Given the description of an element on the screen output the (x, y) to click on. 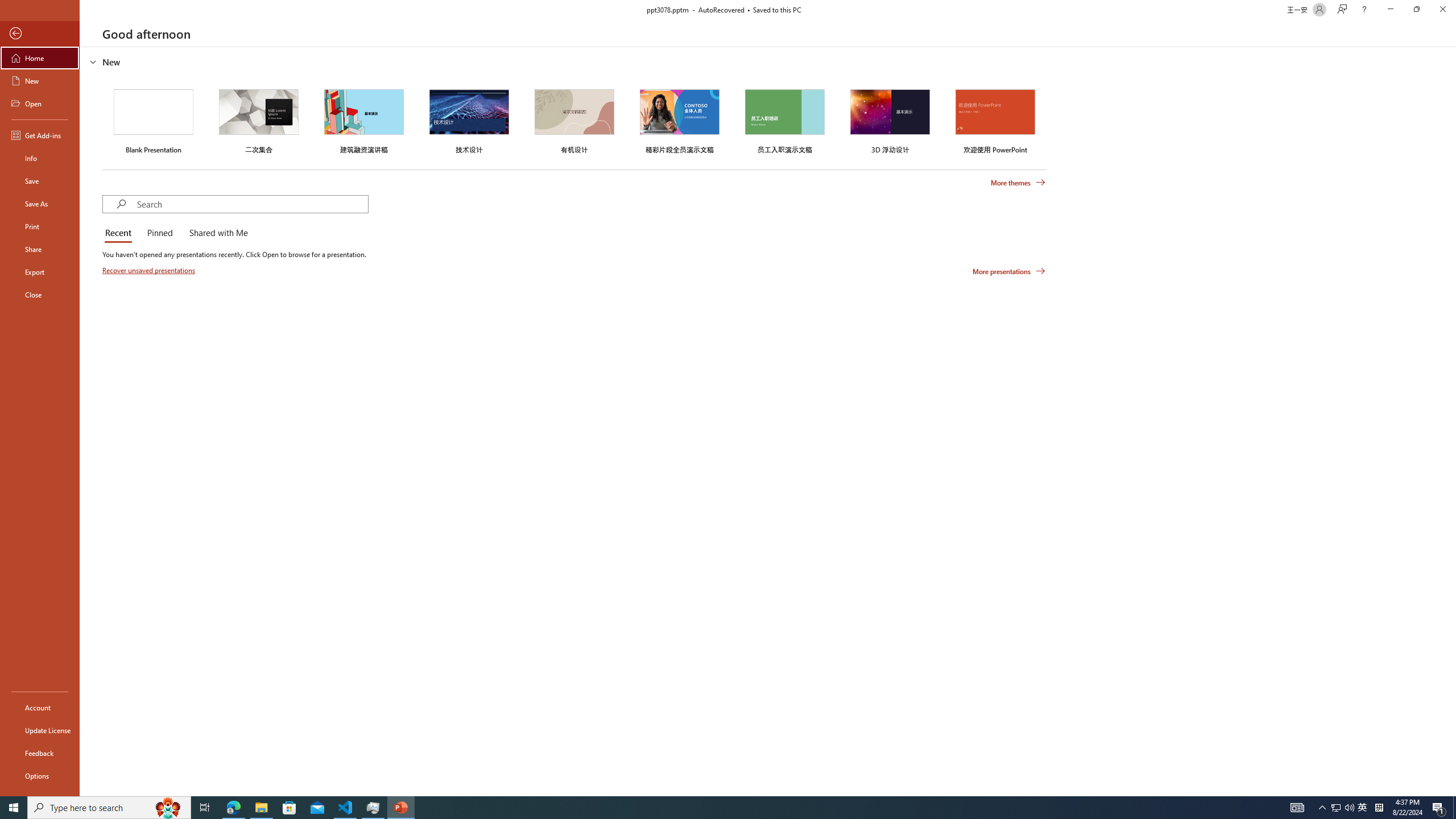
New (40, 80)
Info (40, 157)
Feedback (40, 753)
Export (40, 271)
Back (40, 33)
Account (40, 707)
Blank Presentation (153, 119)
Print (40, 225)
